Given the description of an element on the screen output the (x, y) to click on. 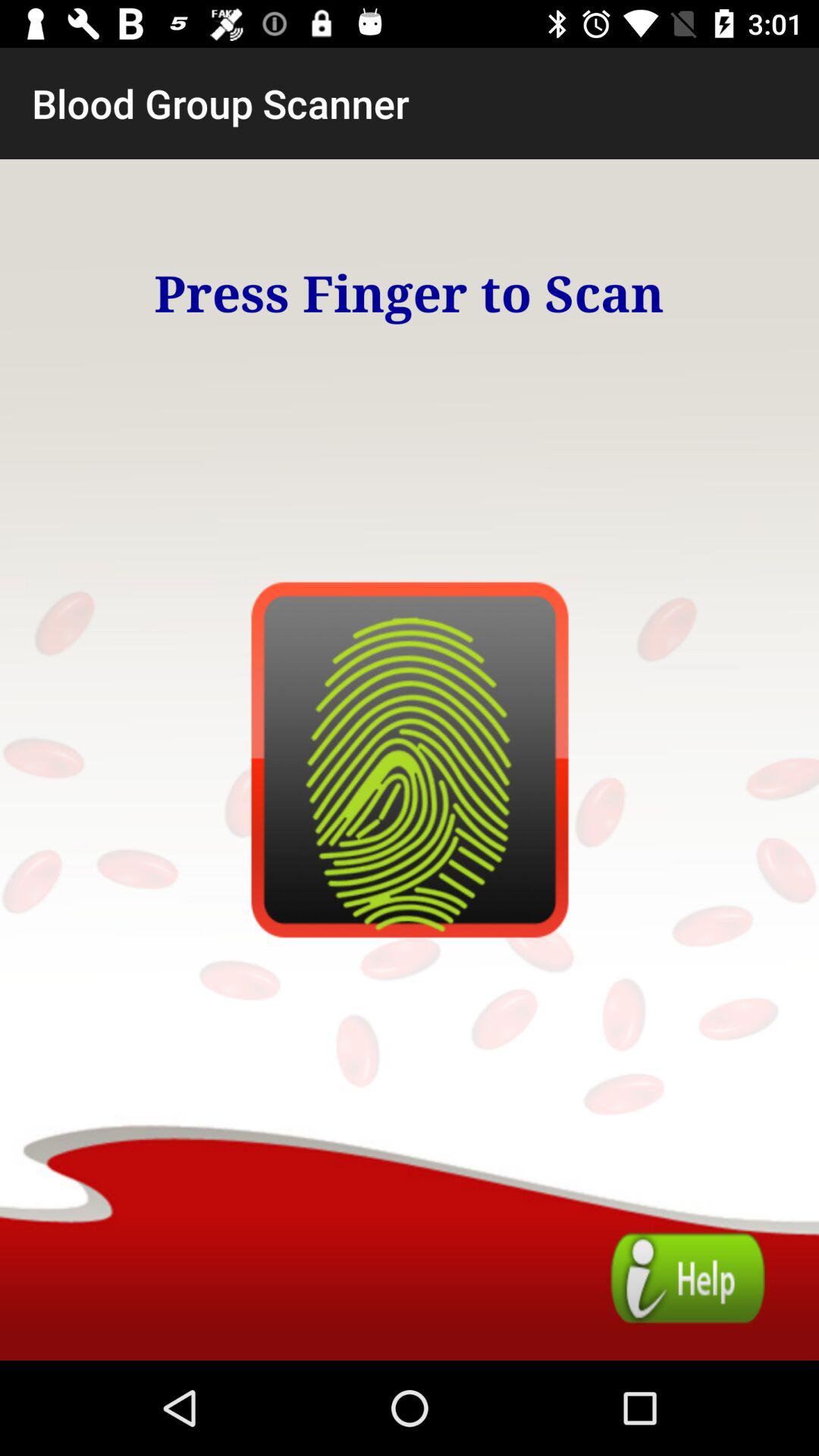
help (687, 1278)
